Given the description of an element on the screen output the (x, y) to click on. 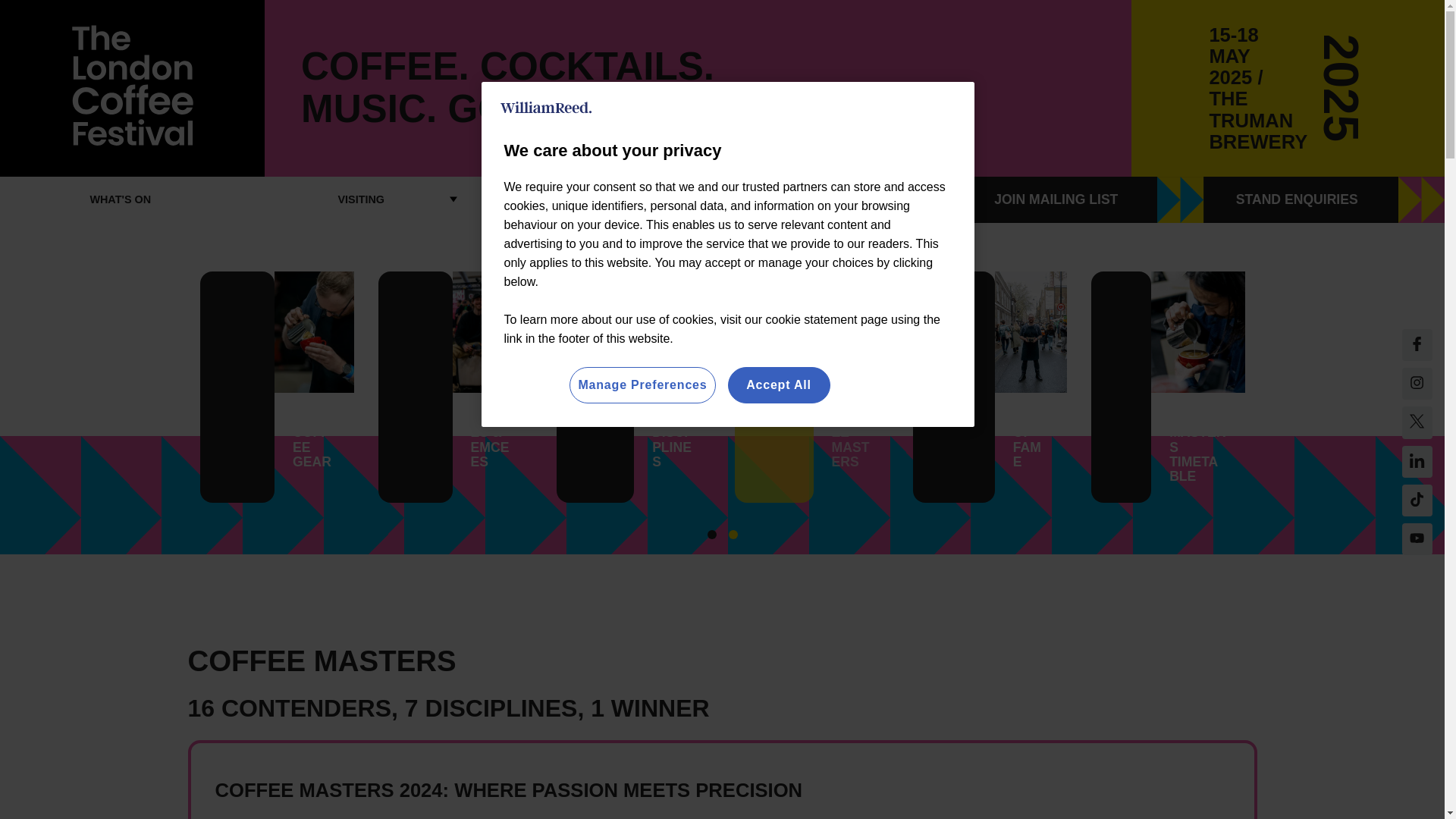
Follow us on Twitter (1416, 422)
Follow Us On Facebook (1416, 345)
WHAT'S ON (120, 199)
MEDIA (842, 199)
VISITING (361, 199)
Follow Us On LinkedIn (1416, 461)
Follow Us On YouTube (1416, 539)
Follow Us On YouTube (1416, 500)
COFFEE MASTERS (601, 199)
Follow Us On Instagram (1416, 383)
JOIN MAILING LIST (1083, 199)
